Given the description of an element on the screen output the (x, y) to click on. 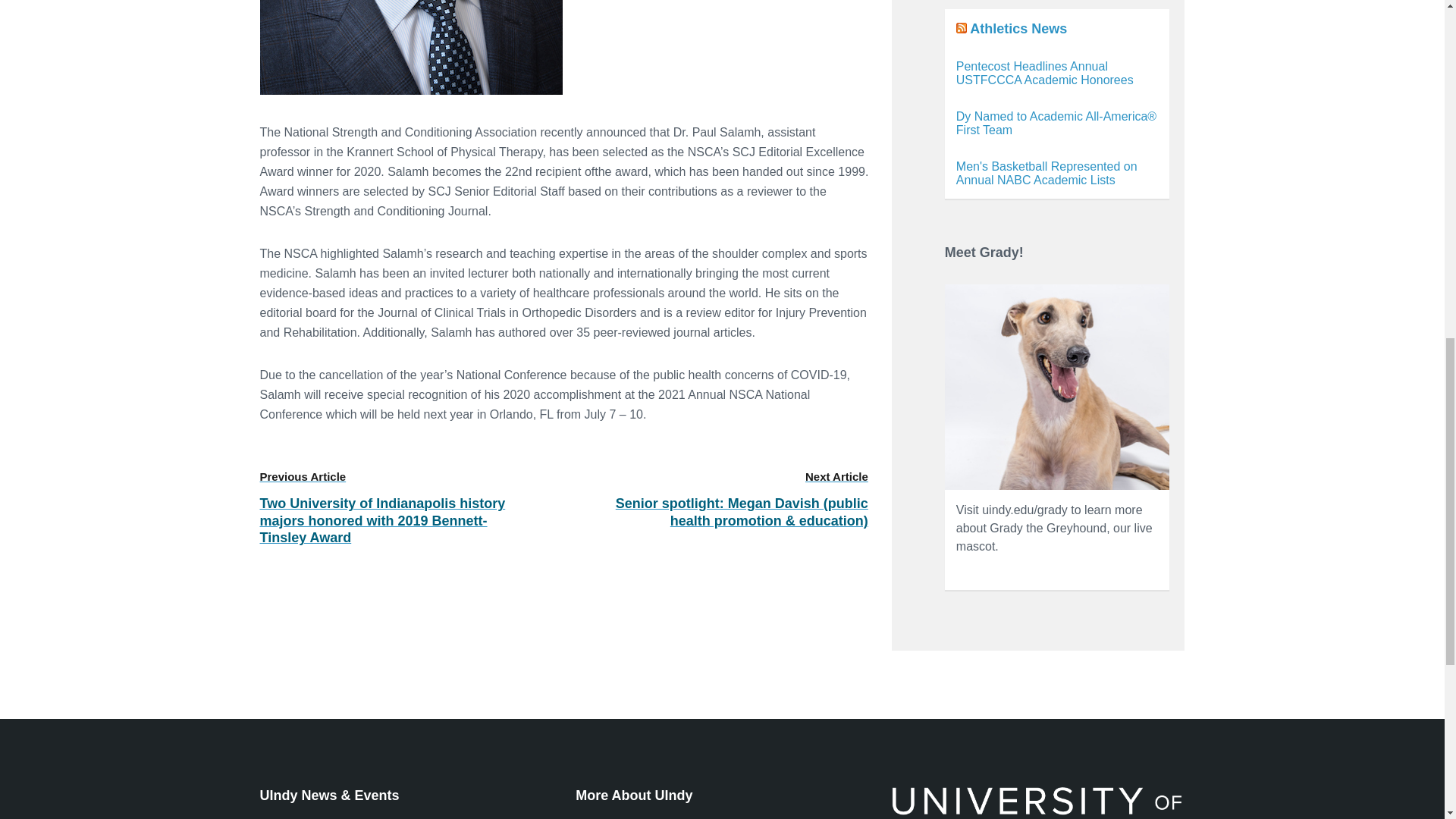
Meet Grady! (1057, 386)
